Given the description of an element on the screen output the (x, y) to click on. 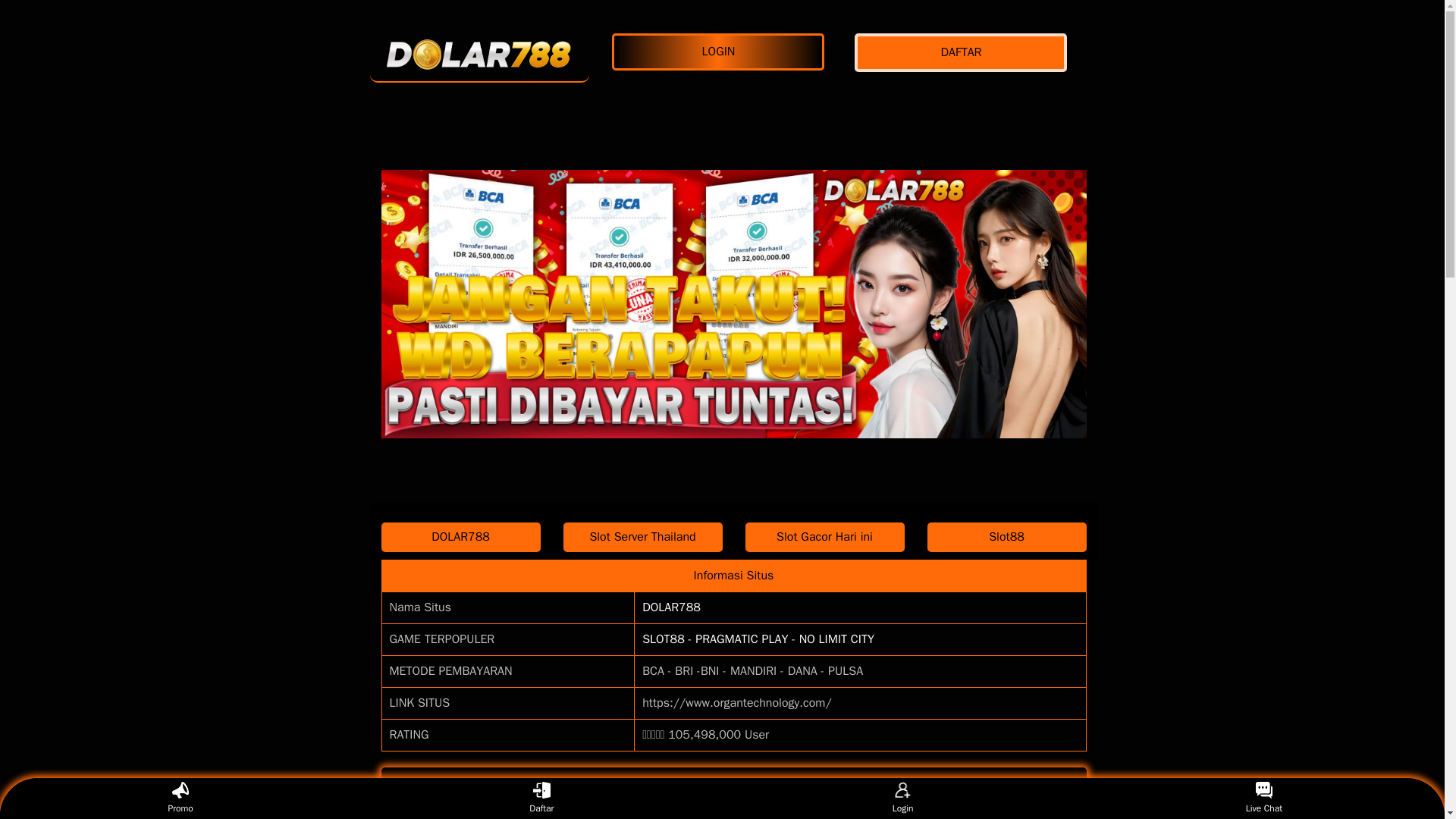
Slot Gacor Hari ini (824, 537)
SLOT88 - PRAGMATIC PLAY - NO LIMIT CITY (758, 639)
DOLAR788 (479, 52)
DOLAR788 (671, 607)
Slot Gacor Hari ini (824, 537)
LOGIN (721, 51)
DAFTAR (964, 52)
Login (903, 797)
DOLAR788 (460, 537)
Slot Server Thailand (642, 537)
Daftar (541, 797)
Slot Server Thailand (642, 537)
Slot88 (1006, 537)
Promo (180, 797)
Slot88 (1006, 537)
